Given the description of an element on the screen output the (x, y) to click on. 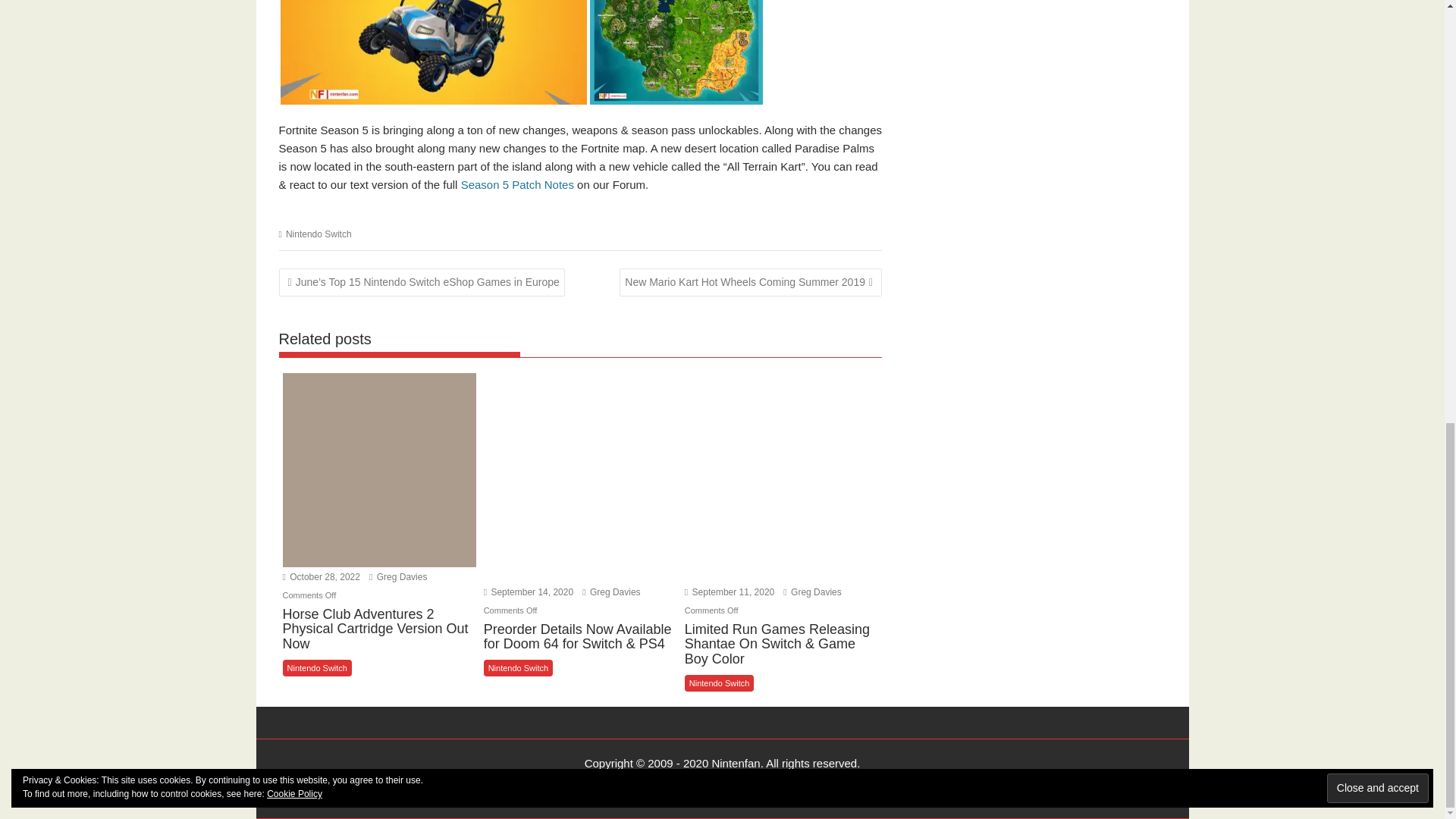
Fortnite Season 5, Newly Updated Map With Locations Marked (675, 52)
Greg Davies (397, 576)
New All Terrain Vechile in Fortnite after Season 5 Release (433, 52)
Greg Davies (812, 592)
Greg Davies (611, 592)
